Given the description of an element on the screen output the (x, y) to click on. 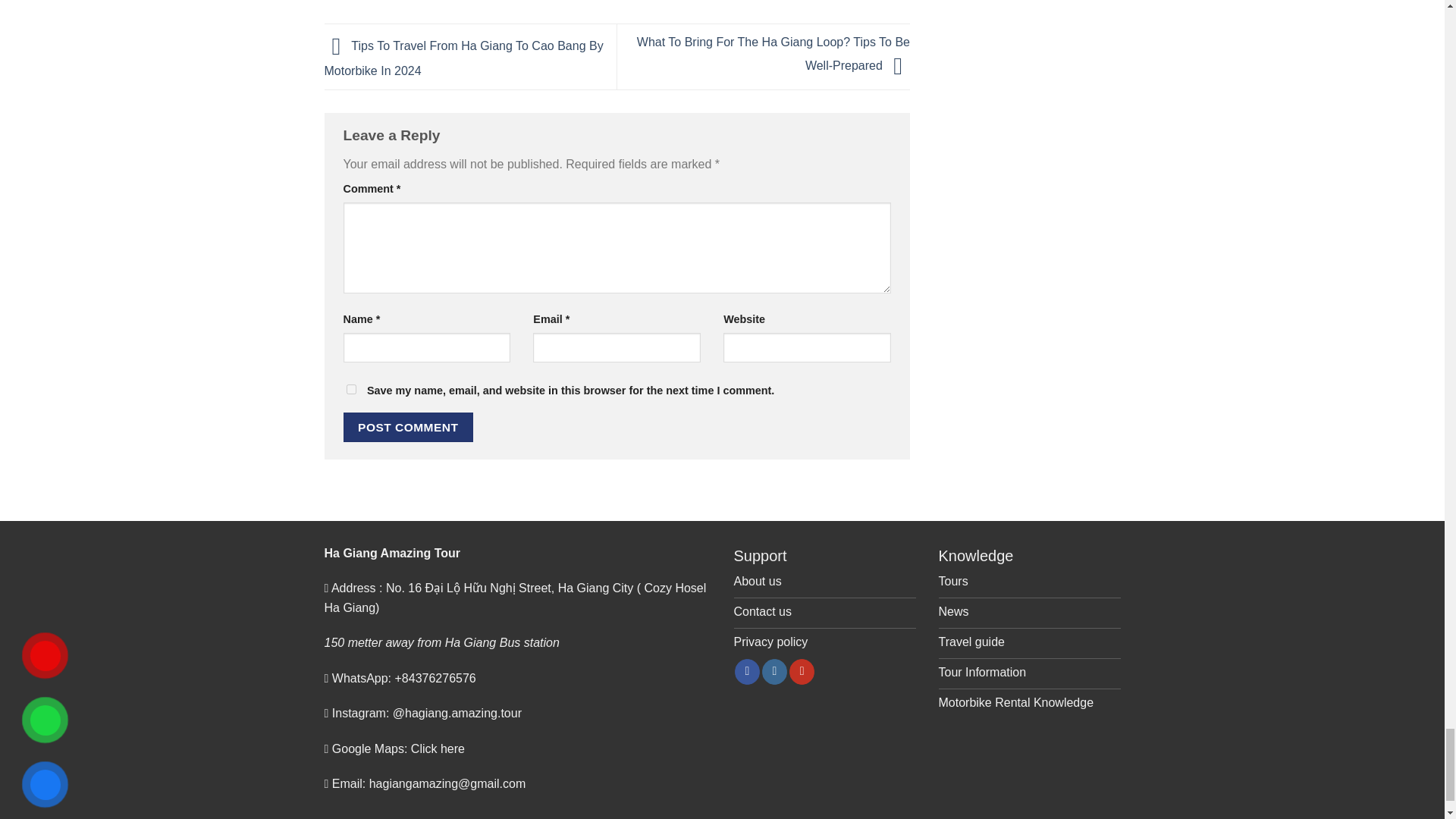
Follow on Instagram (774, 671)
Follow on Facebook (747, 671)
Post Comment (407, 427)
yes (350, 388)
Follow on YouTube (801, 671)
